Given the description of an element on the screen output the (x, y) to click on. 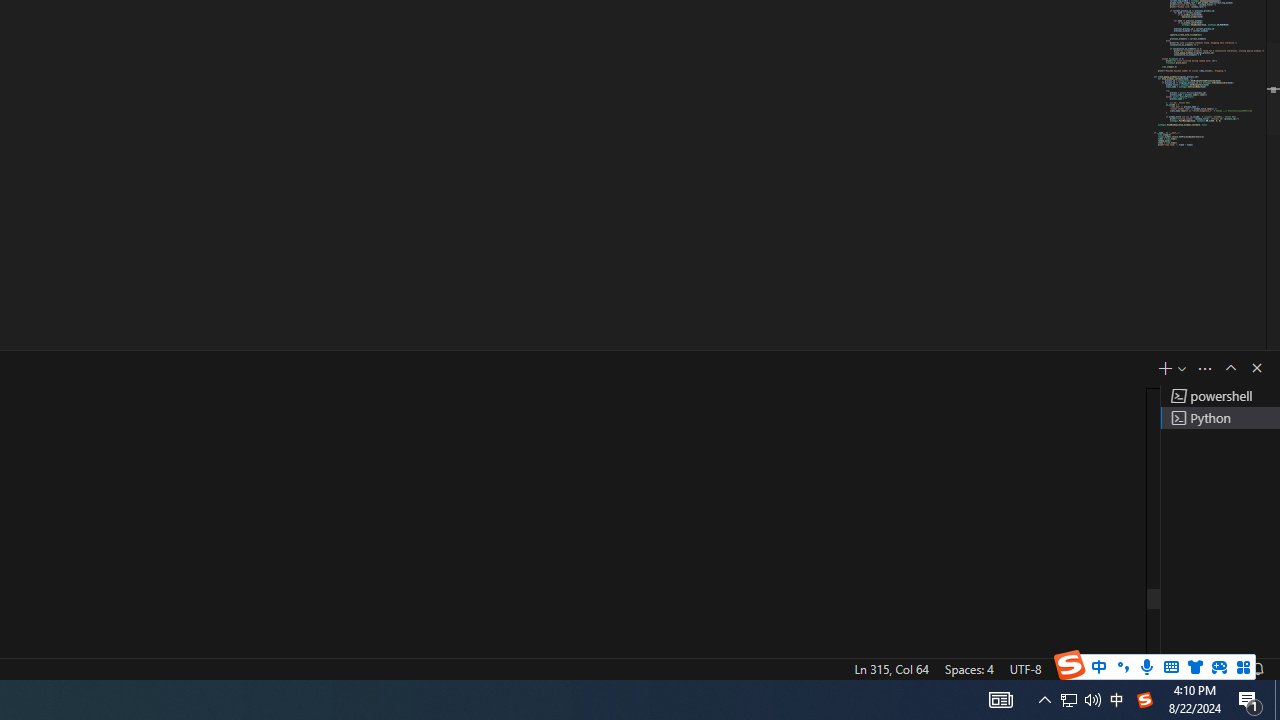
Print Layout (924, 640)
Class: NetUIImage (1116, 169)
Quote (1130, 25)
List Paragraph (1130, 169)
